Given the description of an element on the screen output the (x, y) to click on. 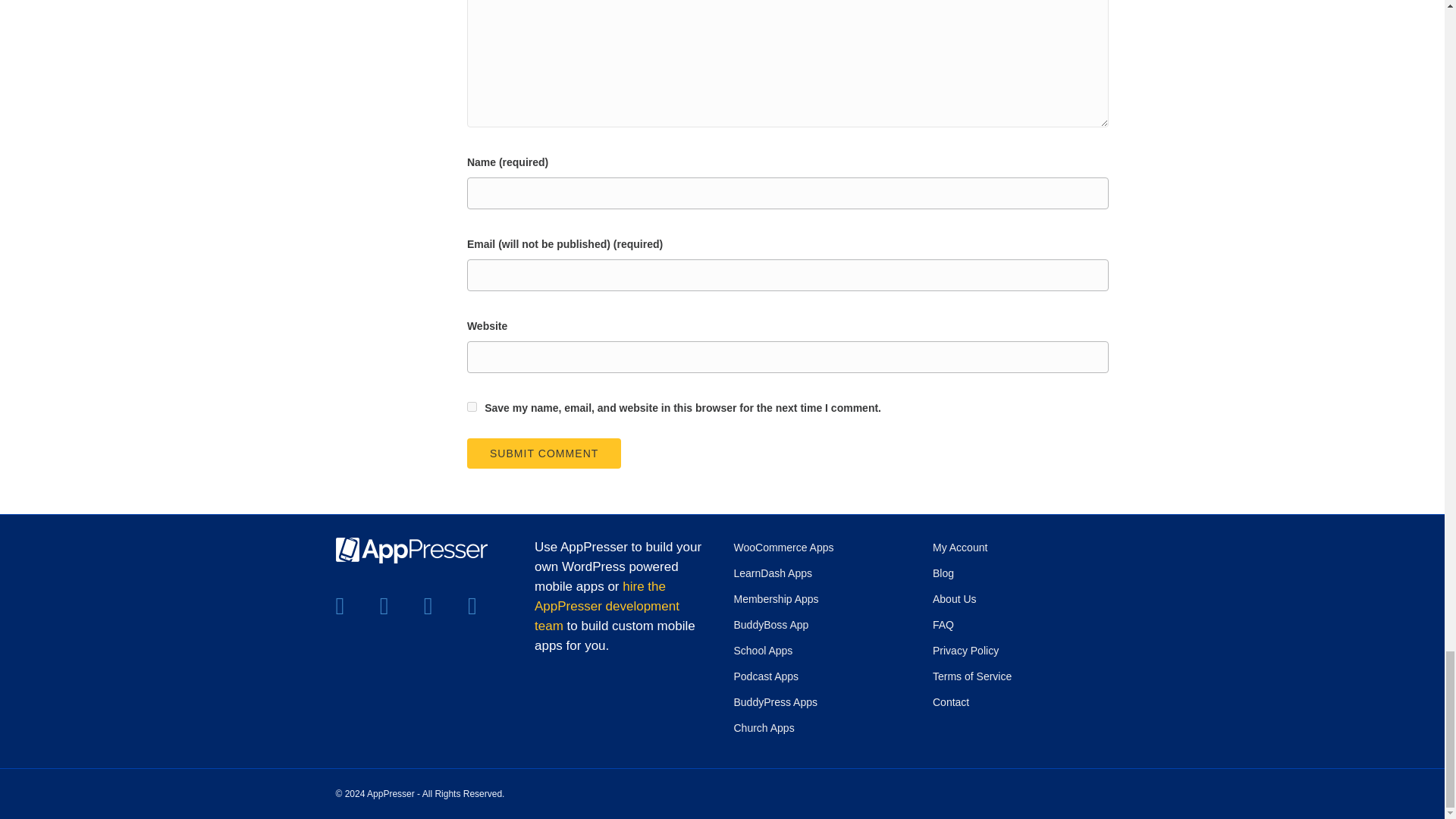
Submit Comment (544, 453)
yes (472, 406)
Custom Mobile App Development Services (606, 606)
